Given the description of an element on the screen output the (x, y) to click on. 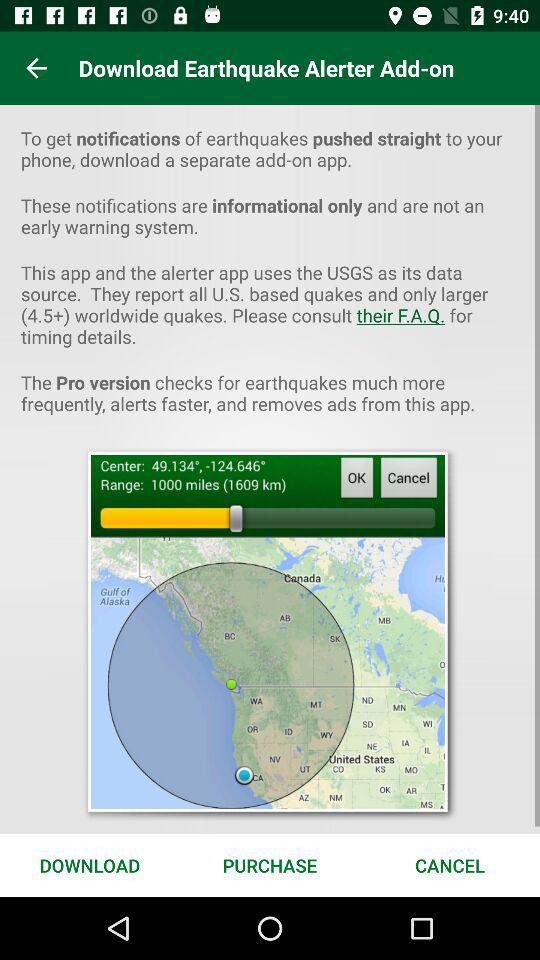
click the icon to the right of purchase (450, 864)
